Given the description of an element on the screen output the (x, y) to click on. 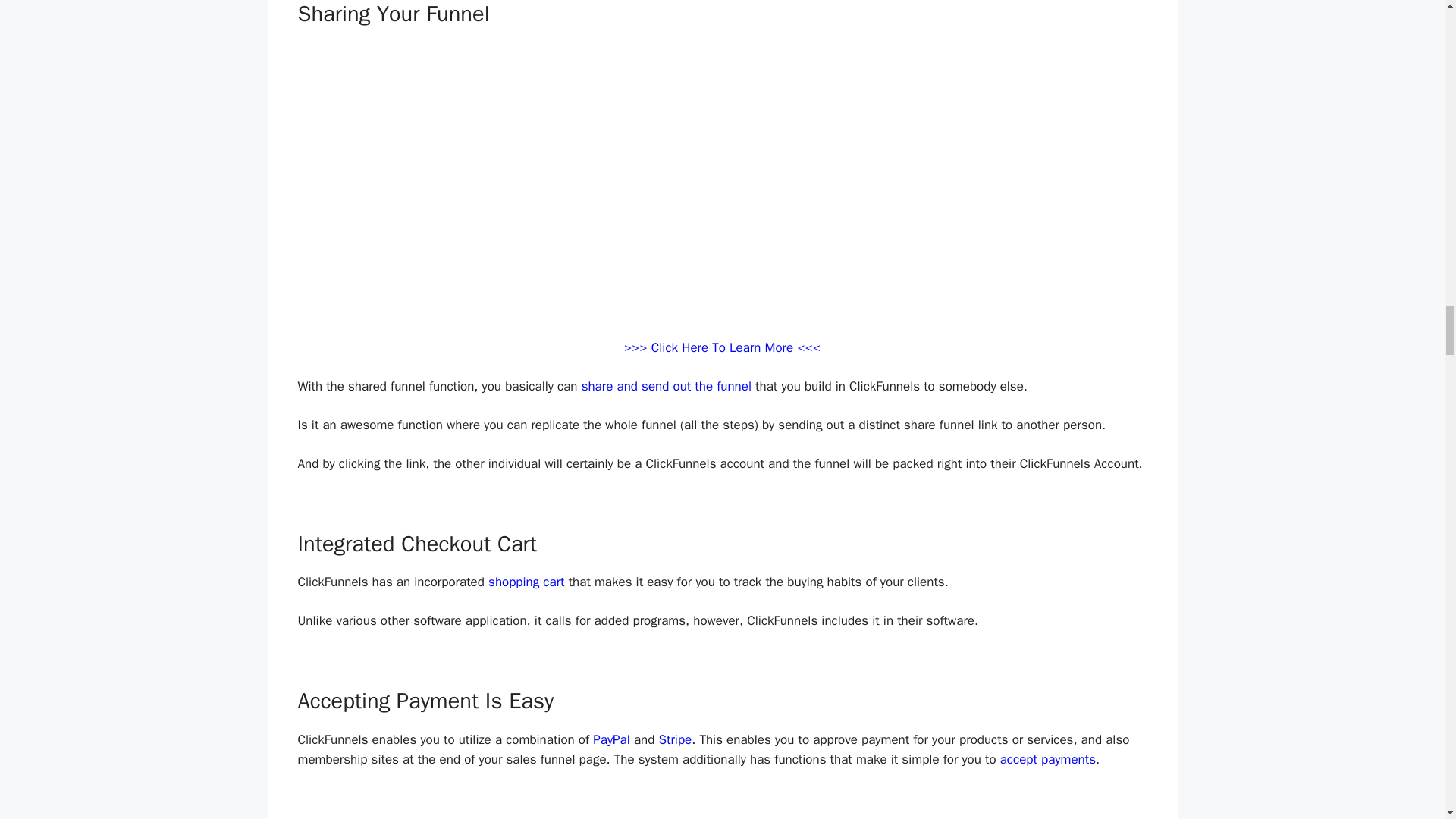
Stripe (674, 739)
PayPal (611, 739)
shopping cart (525, 581)
share and send out the funnel (665, 385)
accept payments (1048, 759)
